Given the description of an element on the screen output the (x, y) to click on. 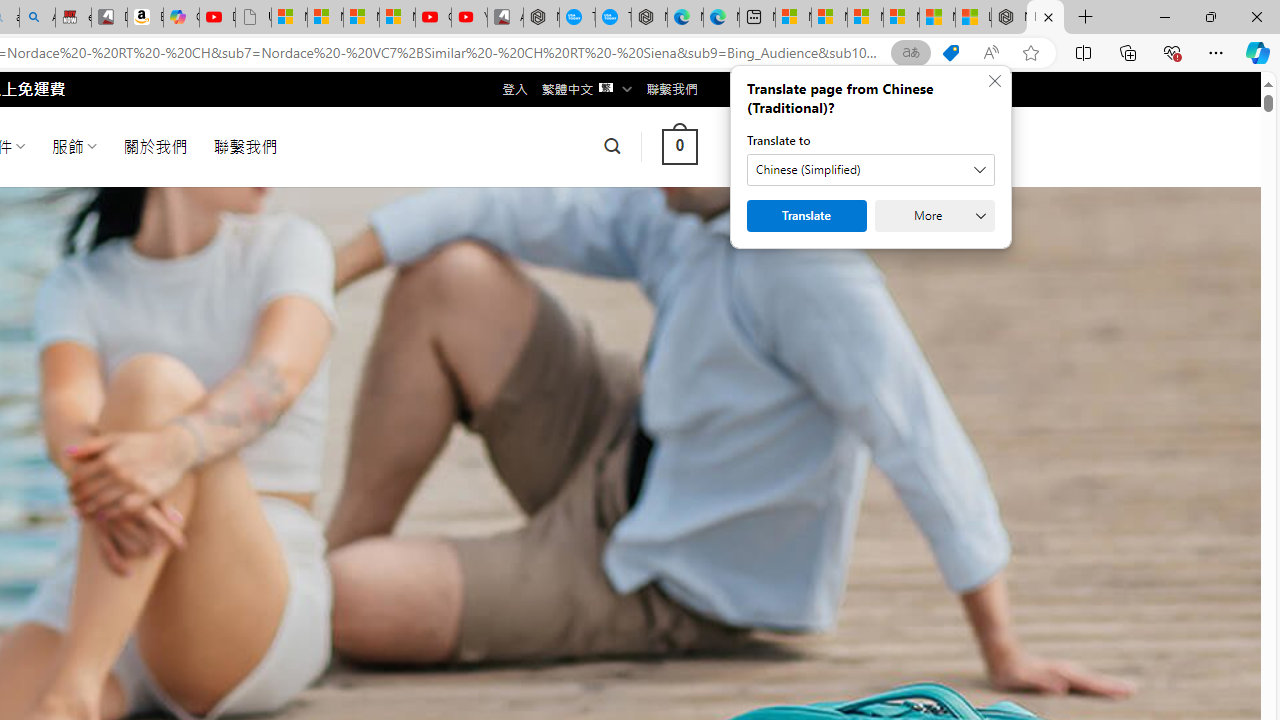
Amazon Echo Dot PNG - Search Images (37, 17)
Translate (806, 215)
Untitled (253, 17)
